Given the description of an element on the screen output the (x, y) to click on. 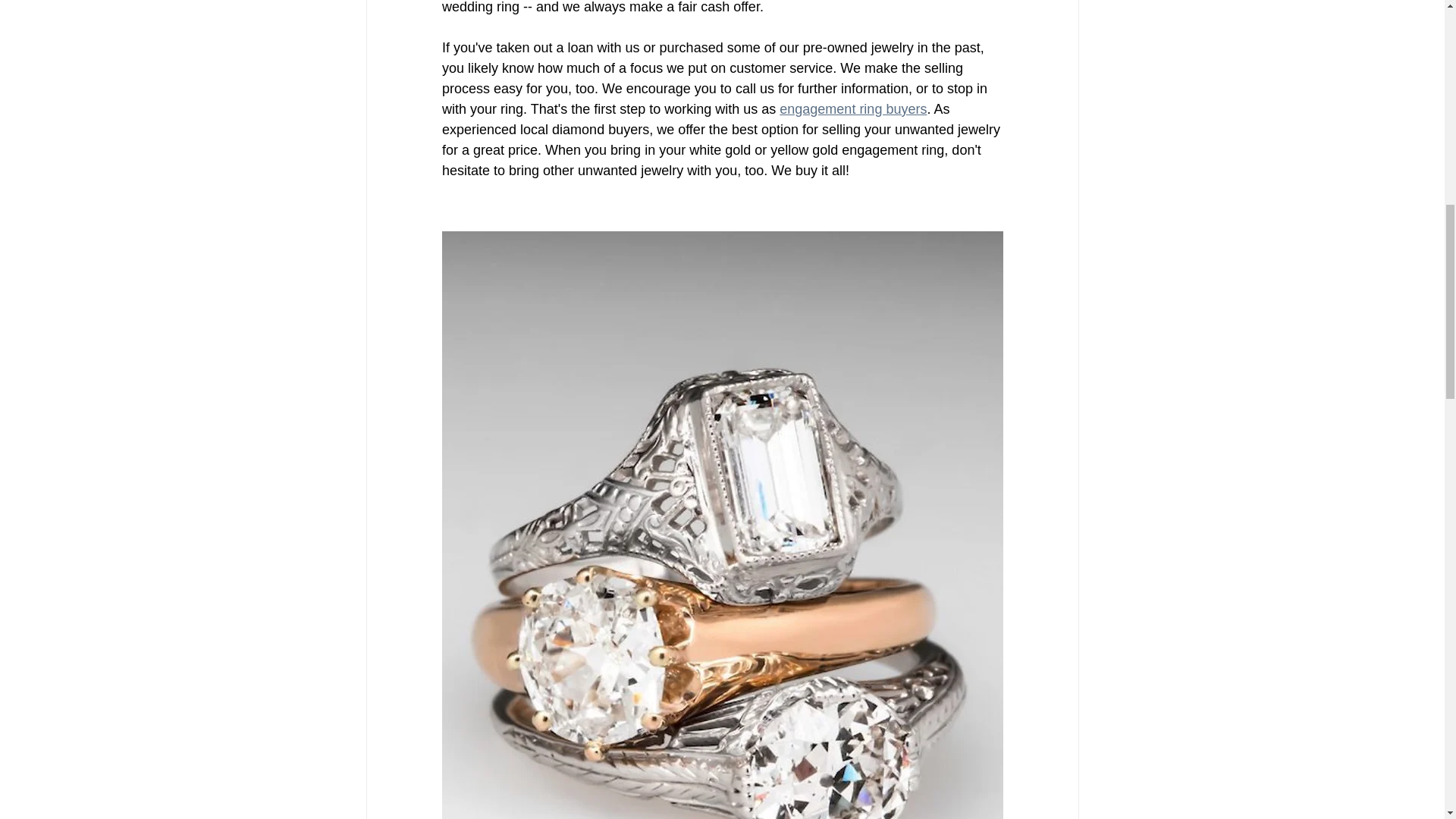
engagement ring buyers (852, 109)
